Given the description of an element on the screen output the (x, y) to click on. 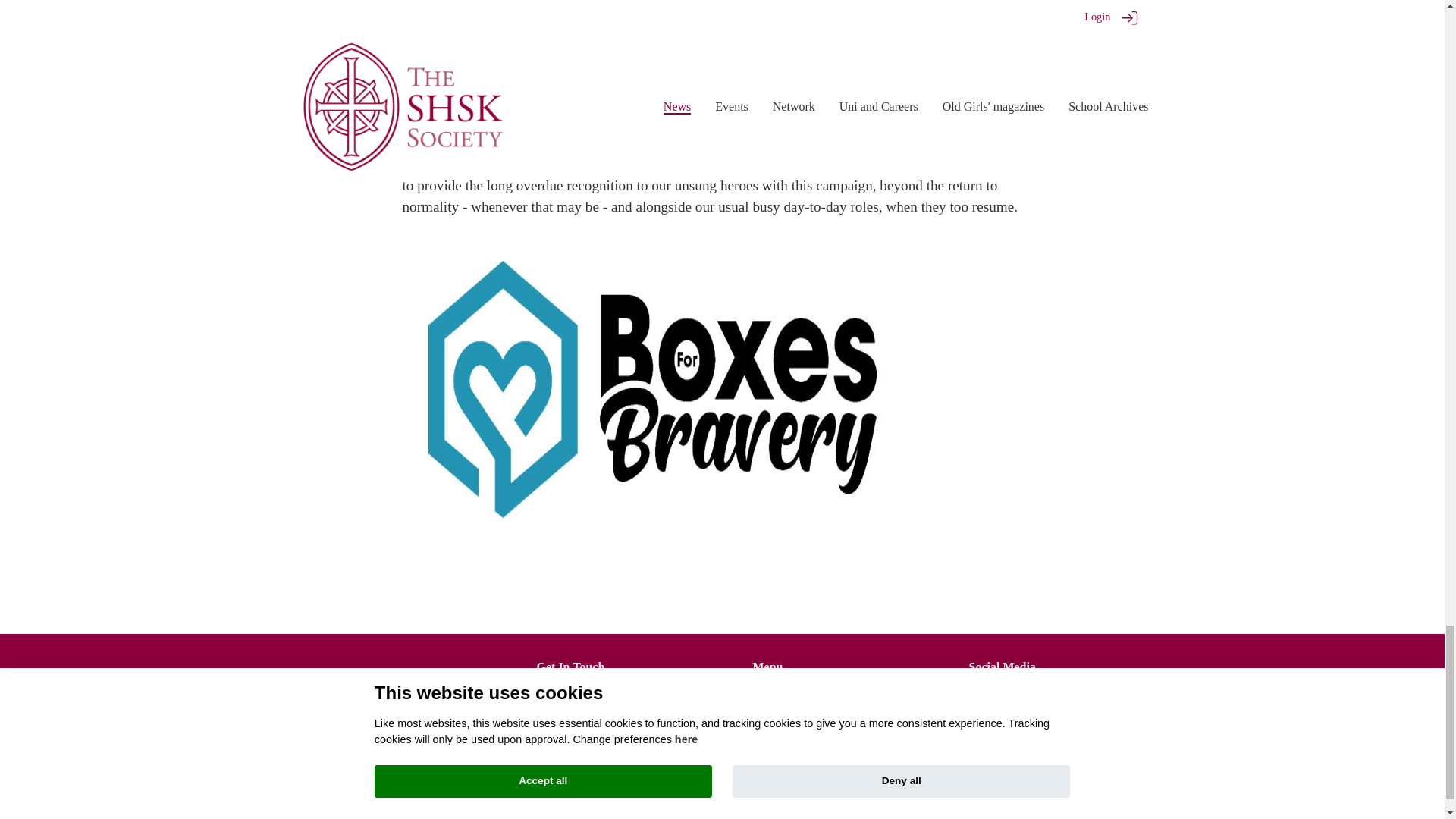
Instagram (1067, 703)
Terms and Conditions (800, 695)
LinkedIn (1038, 703)
Twitter (980, 703)
SDS Archive (1097, 703)
Facebook (1010, 703)
Data Protection notice (801, 711)
